Given the description of an element on the screen output the (x, y) to click on. 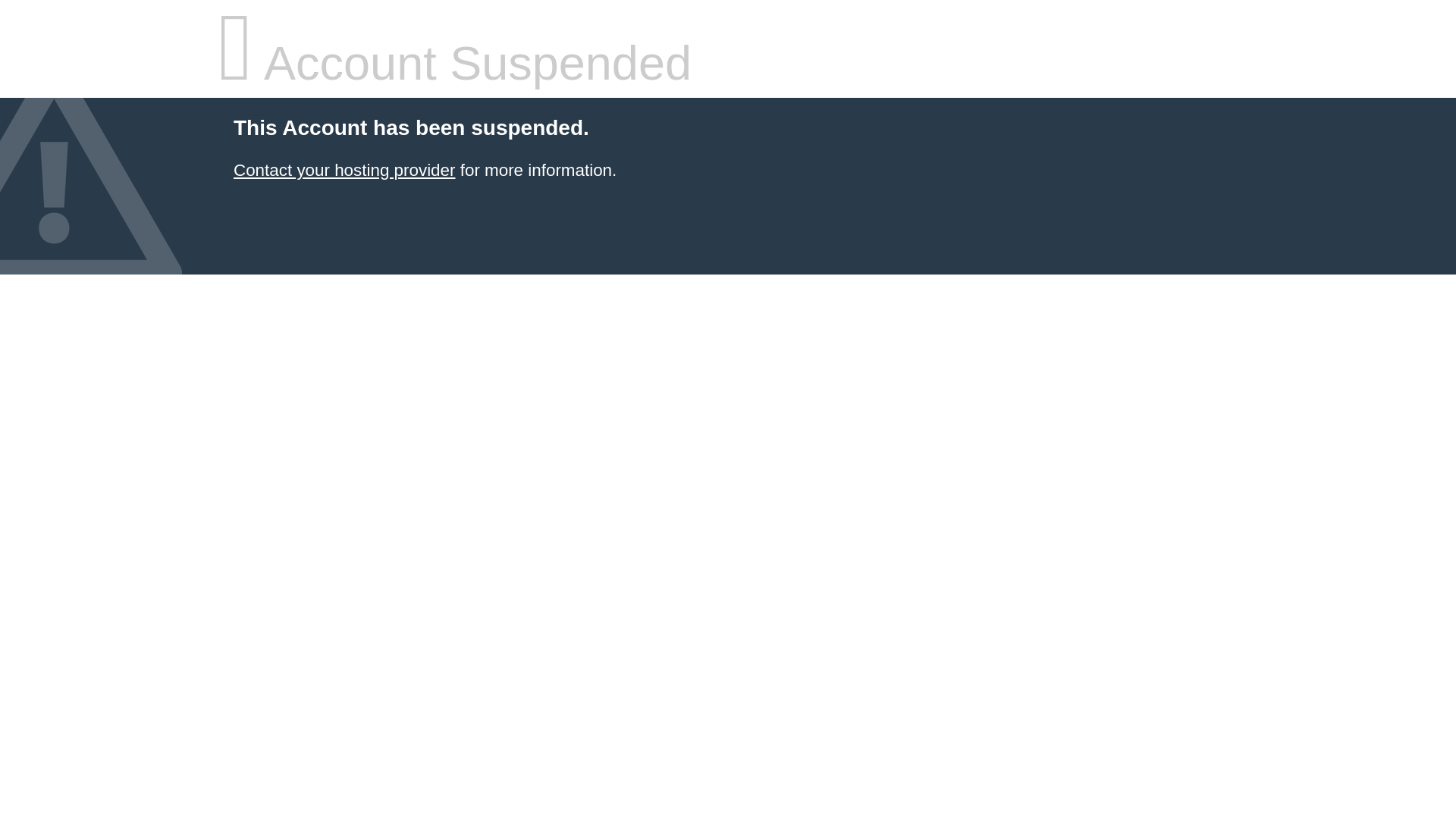
Contact your hosting provider (343, 169)
